Given the description of an element on the screen output the (x, y) to click on. 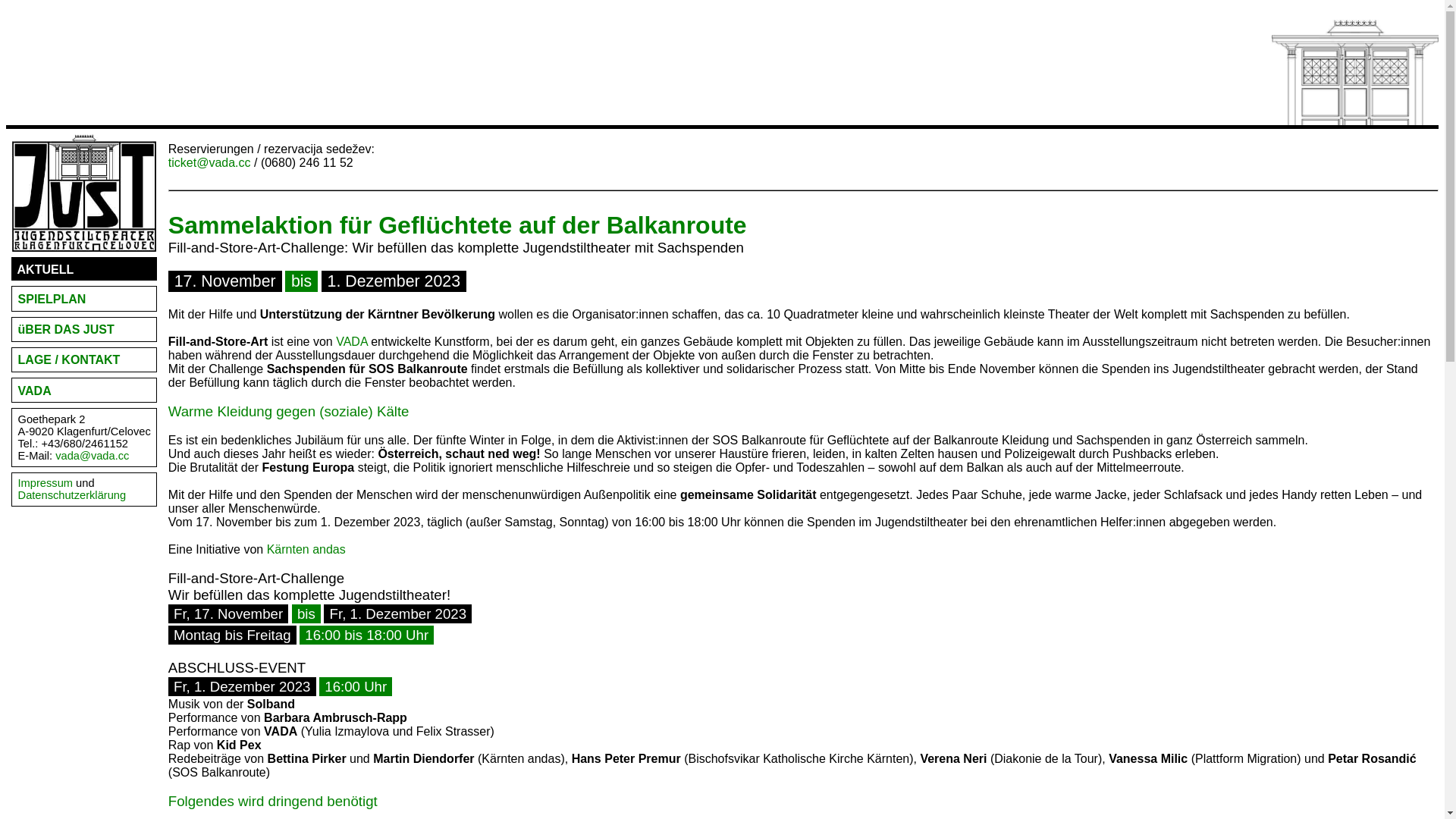
SPIELPLAN Element type: text (52, 298)
vada@vada.cc Element type: text (91, 455)
Impressum Element type: text (45, 482)
ticket@vada.cc Element type: text (209, 162)
VADA Element type: text (34, 390)
LAGE / KONTAKT Element type: text (69, 359)
VADA Element type: text (351, 341)
